Given the description of an element on the screen output the (x, y) to click on. 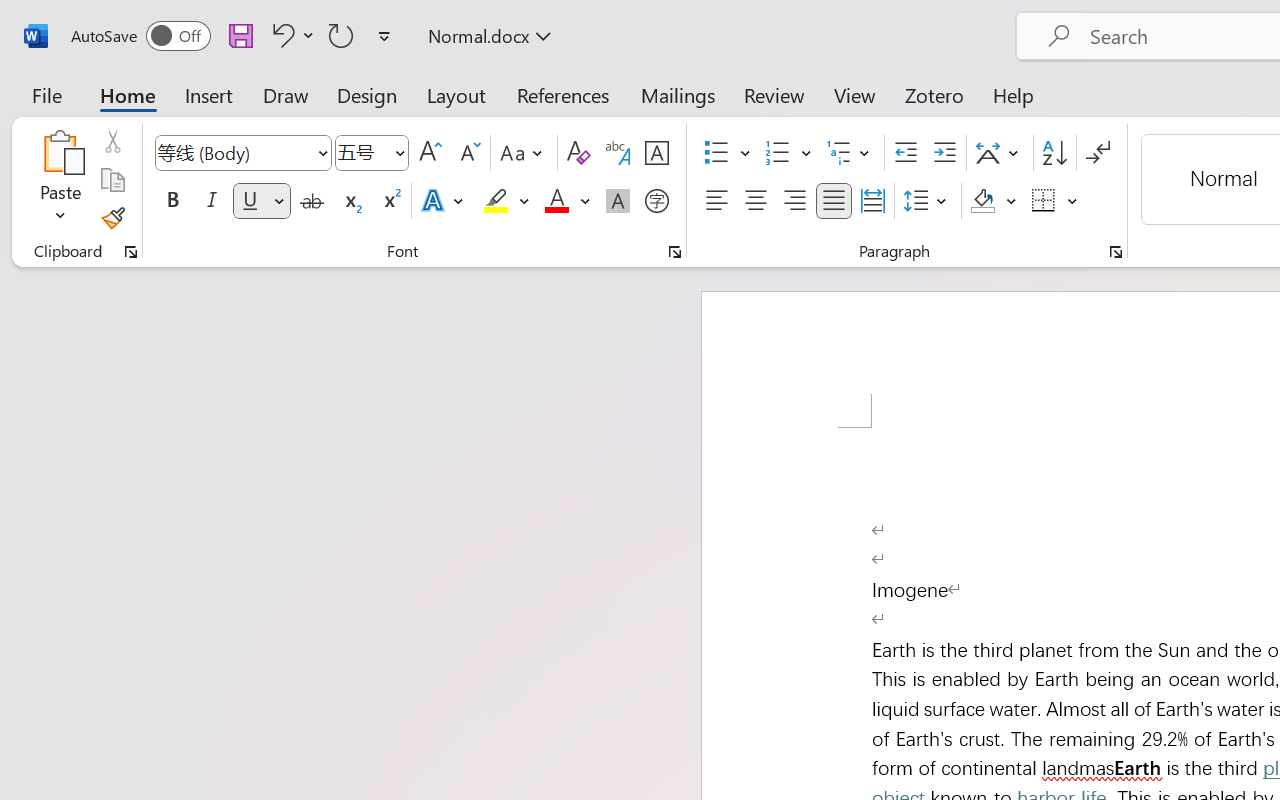
Shading RGB(0, 0, 0) (982, 201)
Paragraph... (1115, 252)
Show/Hide Editing Marks (1098, 153)
Grow Font (430, 153)
Text Highlight Color (506, 201)
Open (399, 152)
Clear Formatting (578, 153)
Phonetic Guide... (618, 153)
Multilevel List (850, 153)
